Given the description of an element on the screen output the (x, y) to click on. 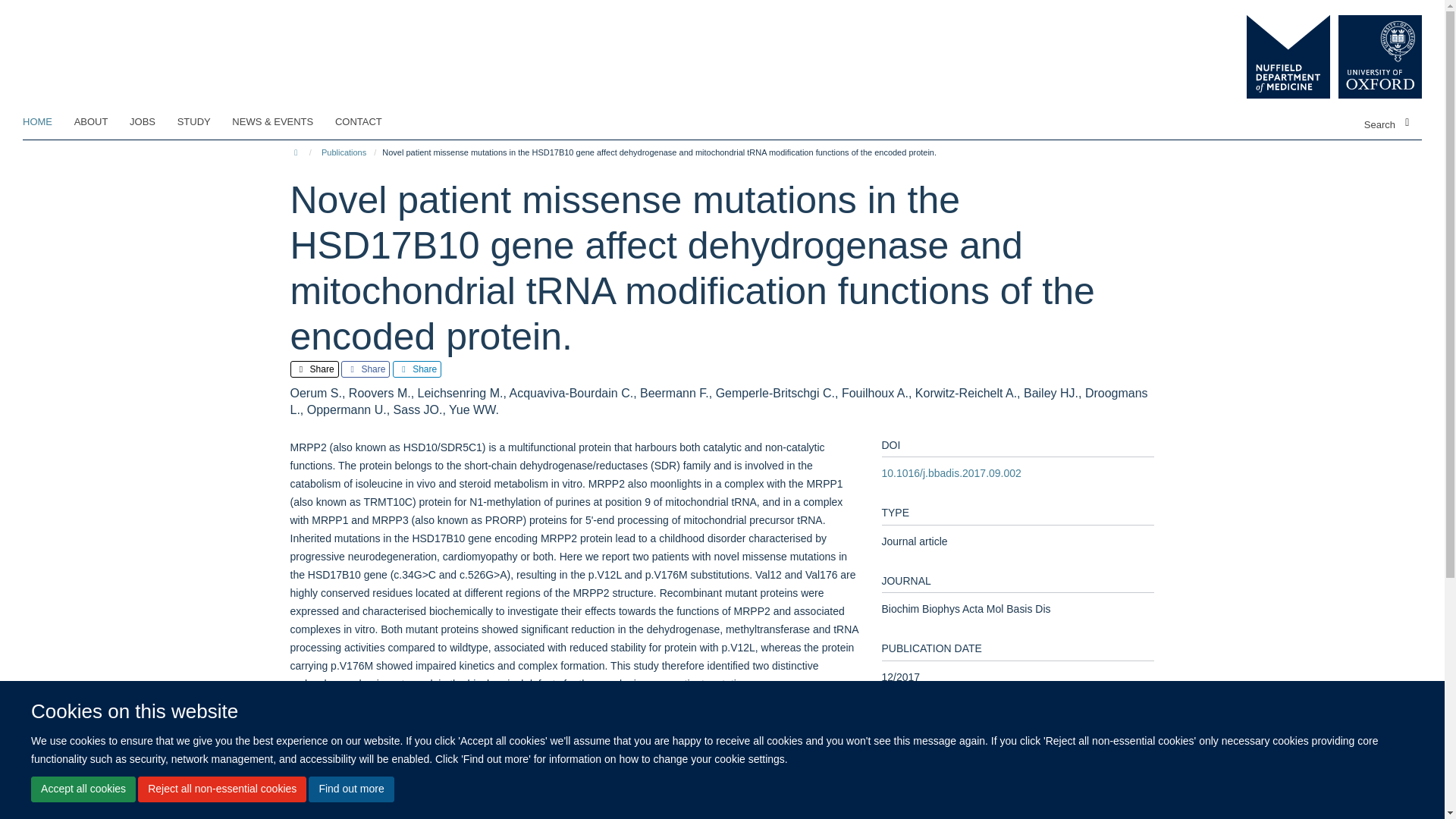
Reject all non-essential cookies (221, 789)
Accept all cookies (82, 789)
Find out more (350, 789)
